Given the description of an element on the screen output the (x, y) to click on. 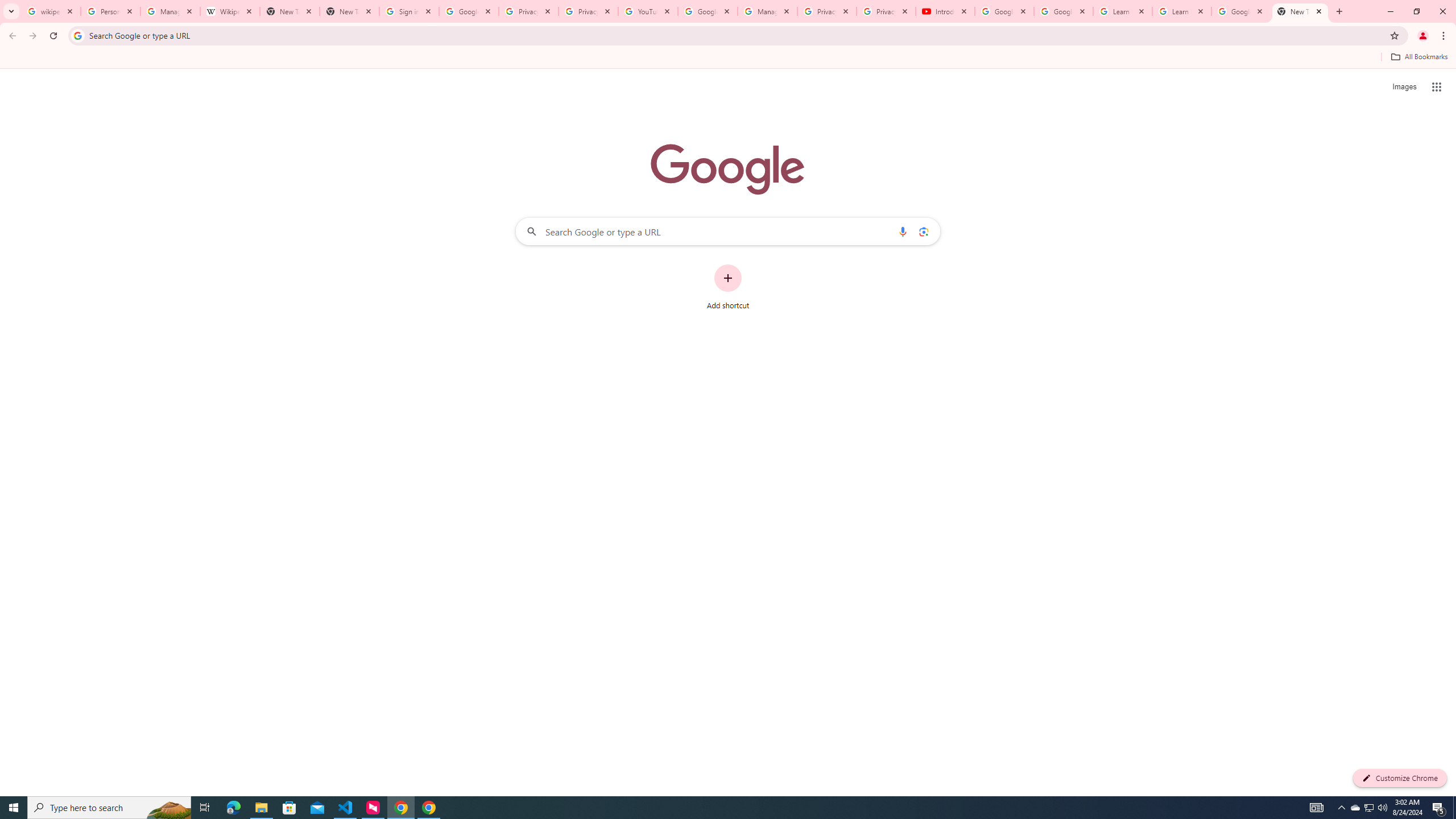
Google Account Help (707, 11)
Bookmarks (728, 58)
New Tab (349, 11)
Wikipedia:Edit requests - Wikipedia (229, 11)
Search for Images  (1403, 87)
Search Google or type a URL (727, 230)
